Given the description of an element on the screen output the (x, y) to click on. 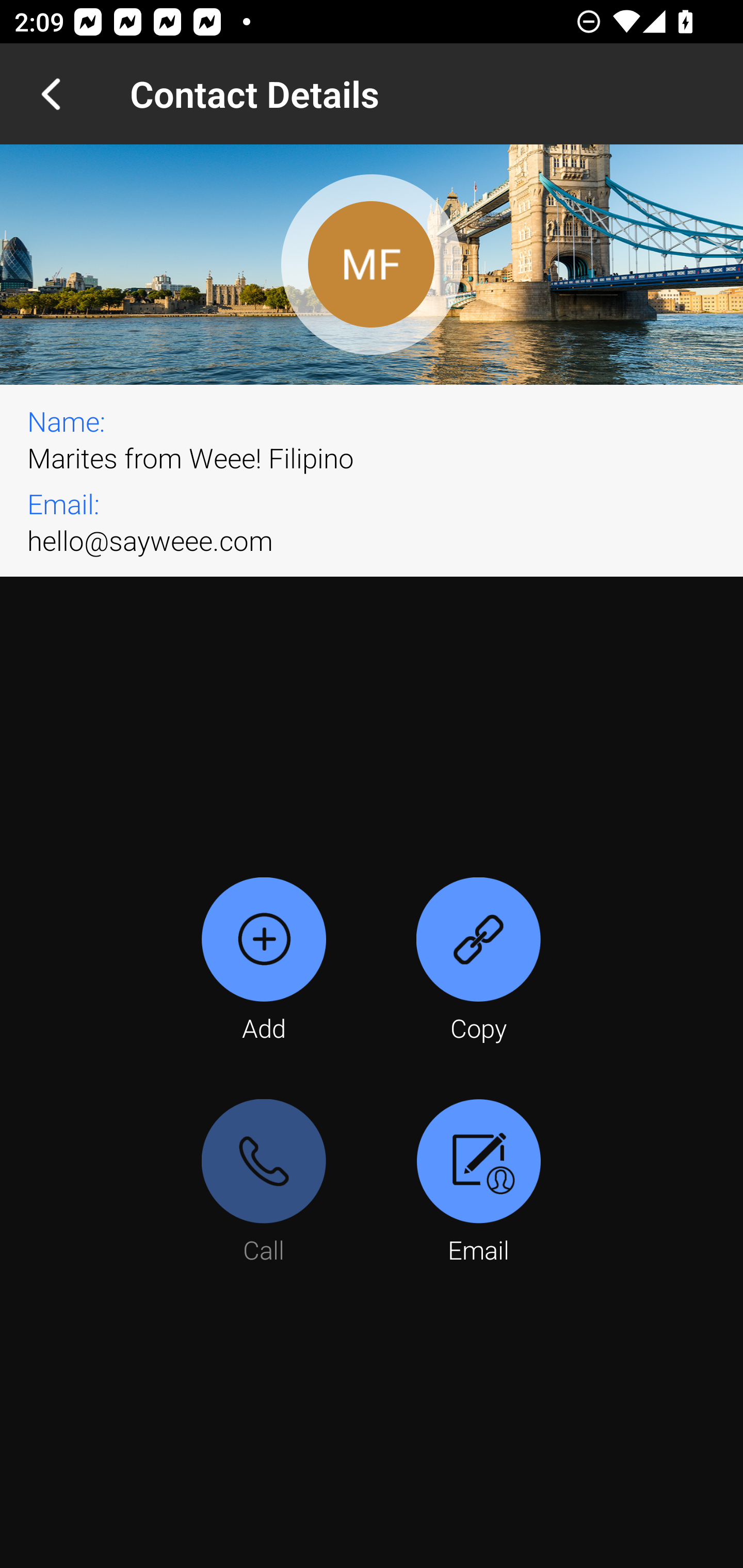
Navigate up (50, 93)
Add (264, 961)
Copy (478, 961)
Call (264, 1182)
Email (478, 1182)
